Given the description of an element on the screen output the (x, y) to click on. 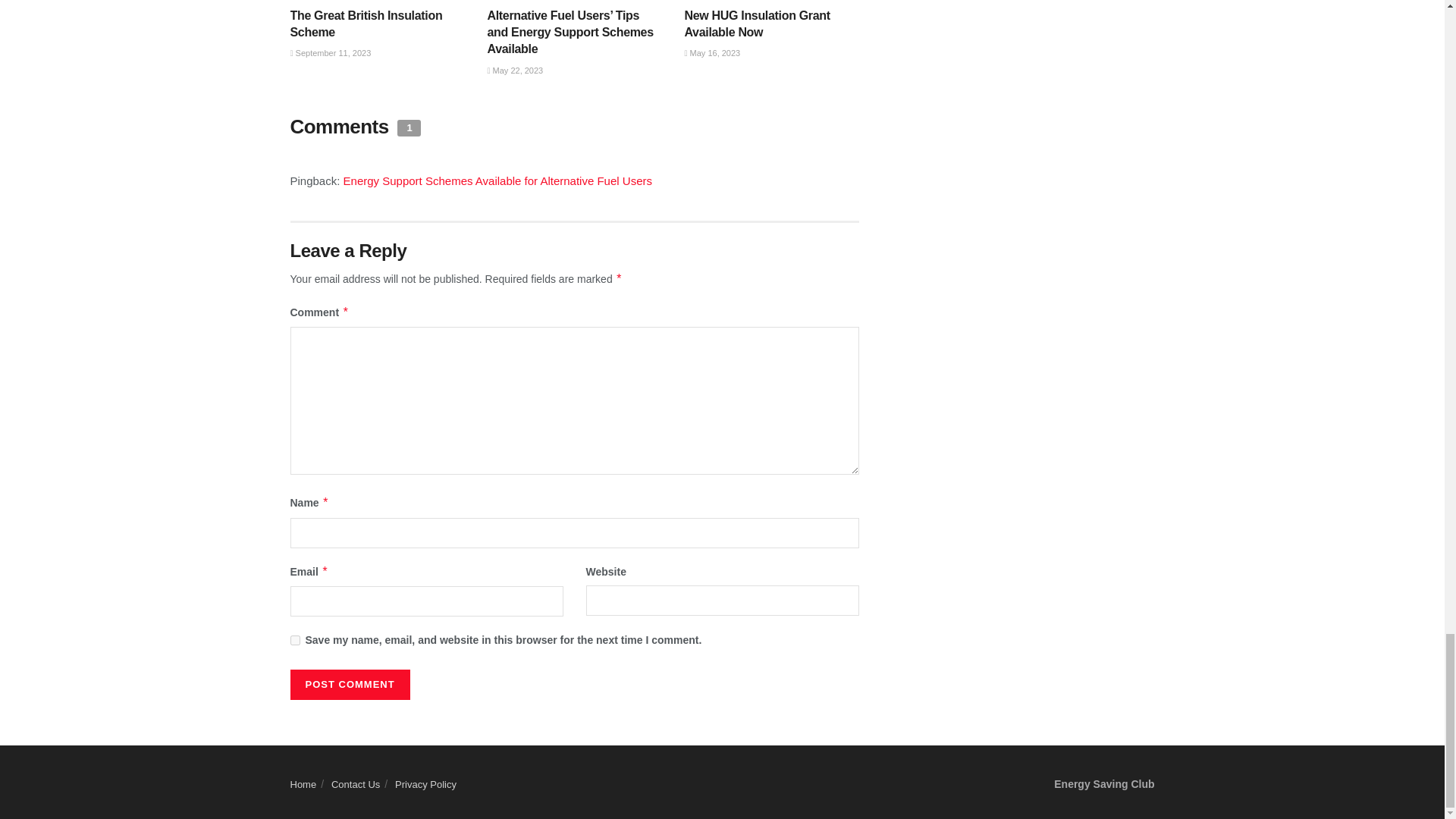
yes (294, 640)
Post Comment (349, 684)
